Given the description of an element on the screen output the (x, y) to click on. 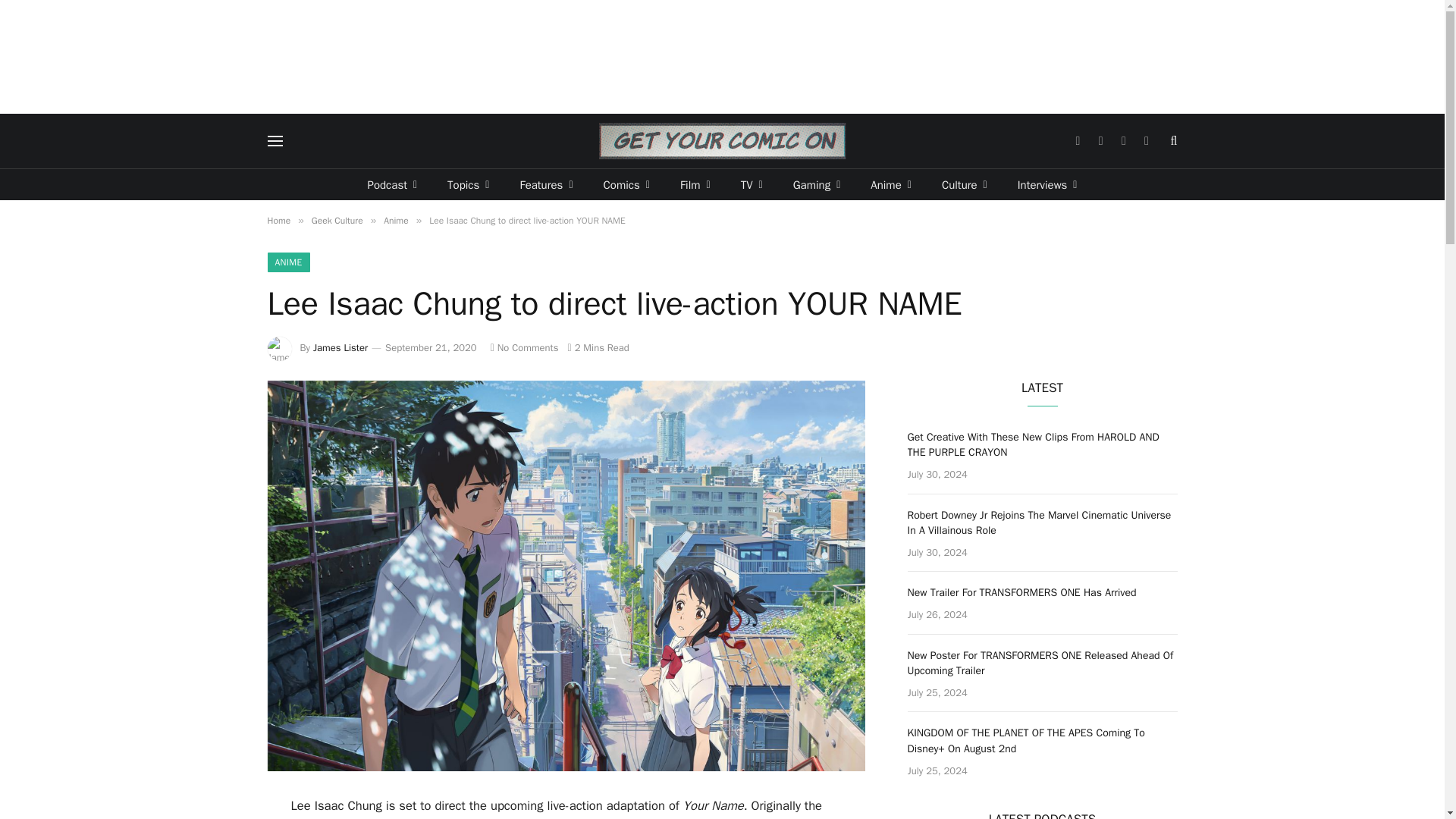
Podcast (392, 183)
Get Your Comic On (721, 140)
Features (545, 183)
Topics (467, 183)
